Given the description of an element on the screen output the (x, y) to click on. 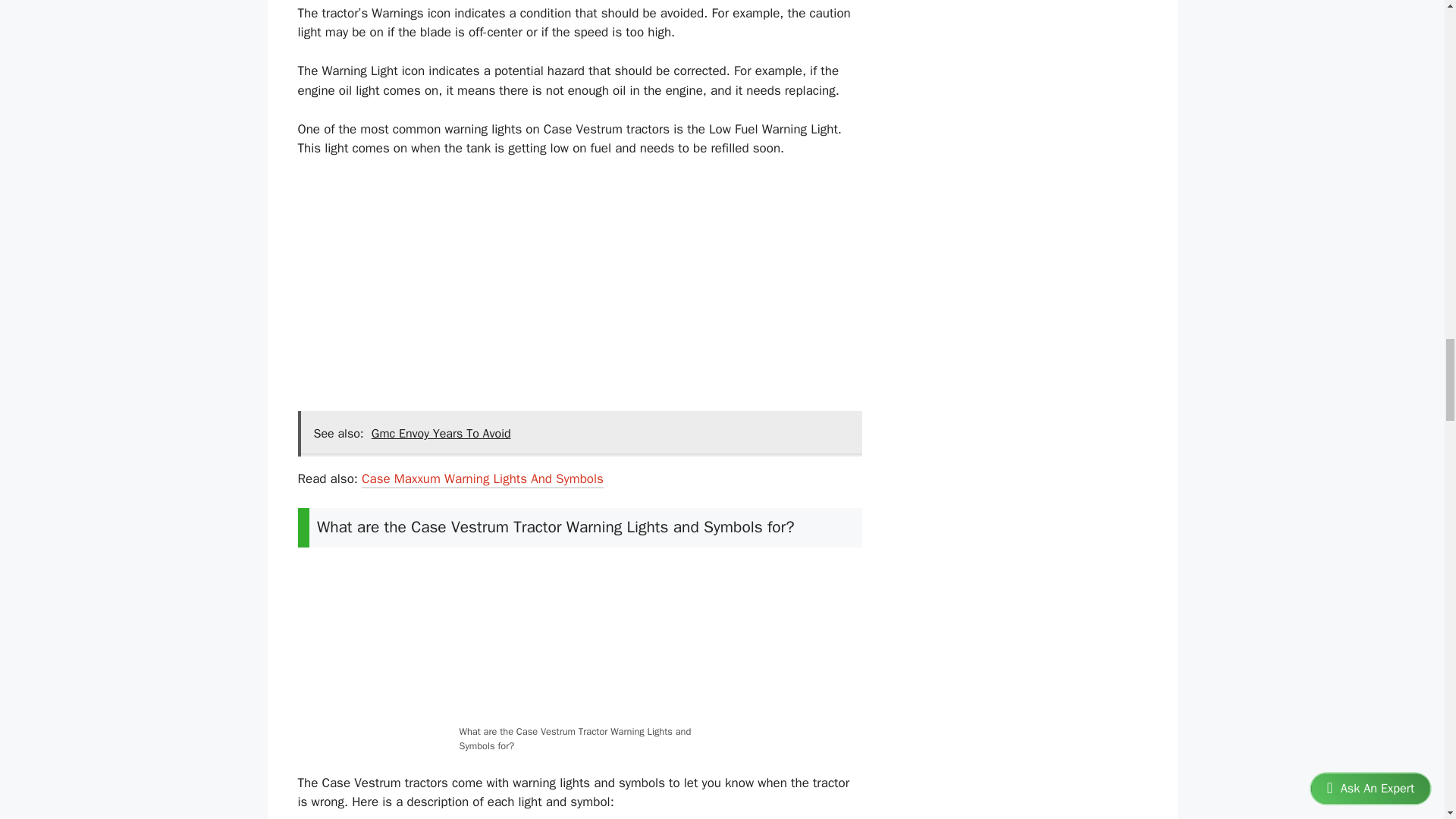
Case Maxxum Warning Lights And Symbols (482, 479)
Case Vestrum Warning Lights And Symbols 4 (580, 641)
See also:  Gmc Envoy Years To Avoid (579, 433)
